Given the description of an element on the screen output the (x, y) to click on. 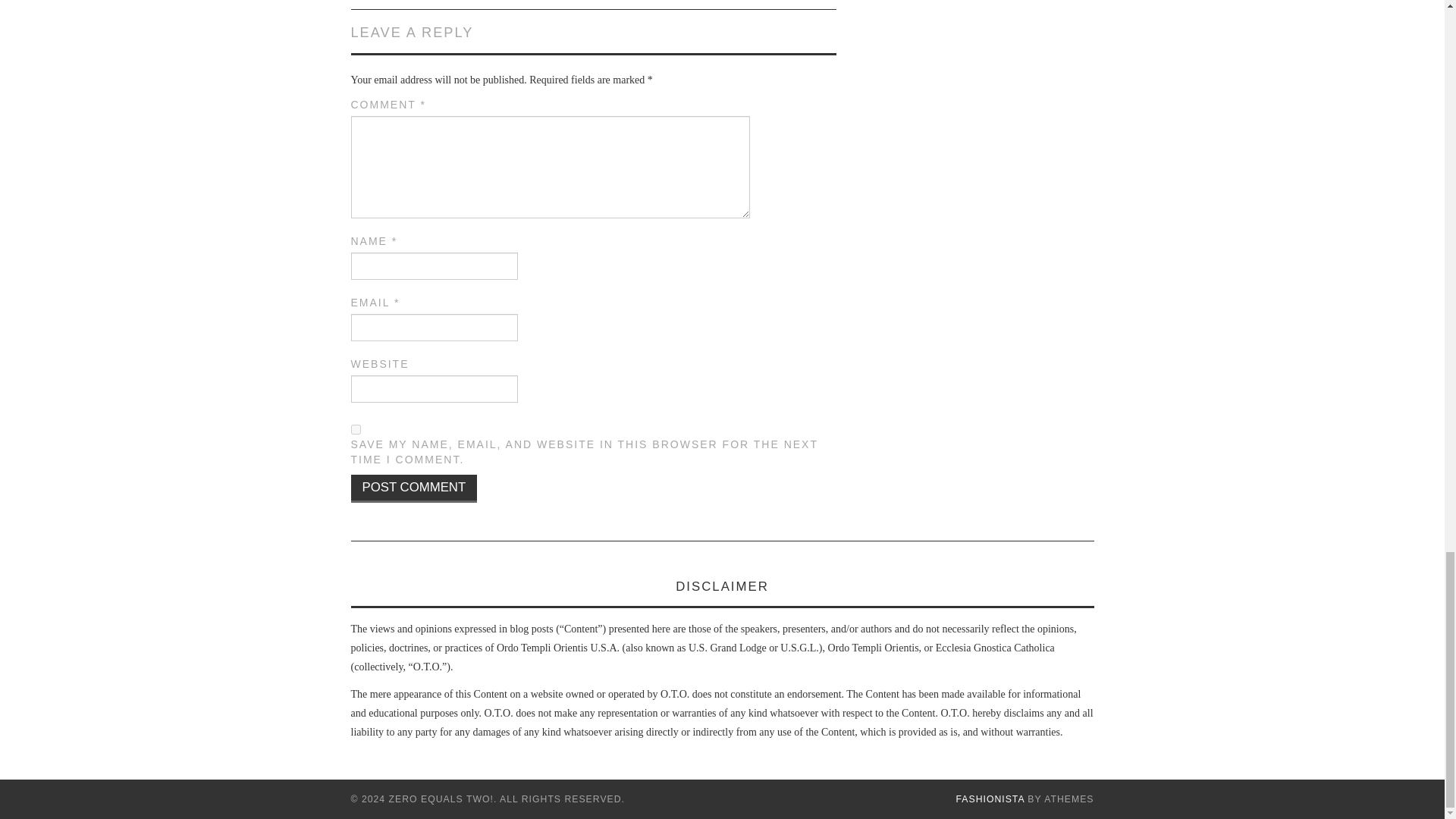
Post Comment (413, 488)
yes (354, 429)
Post Comment (413, 488)
